Given the description of an element on the screen output the (x, y) to click on. 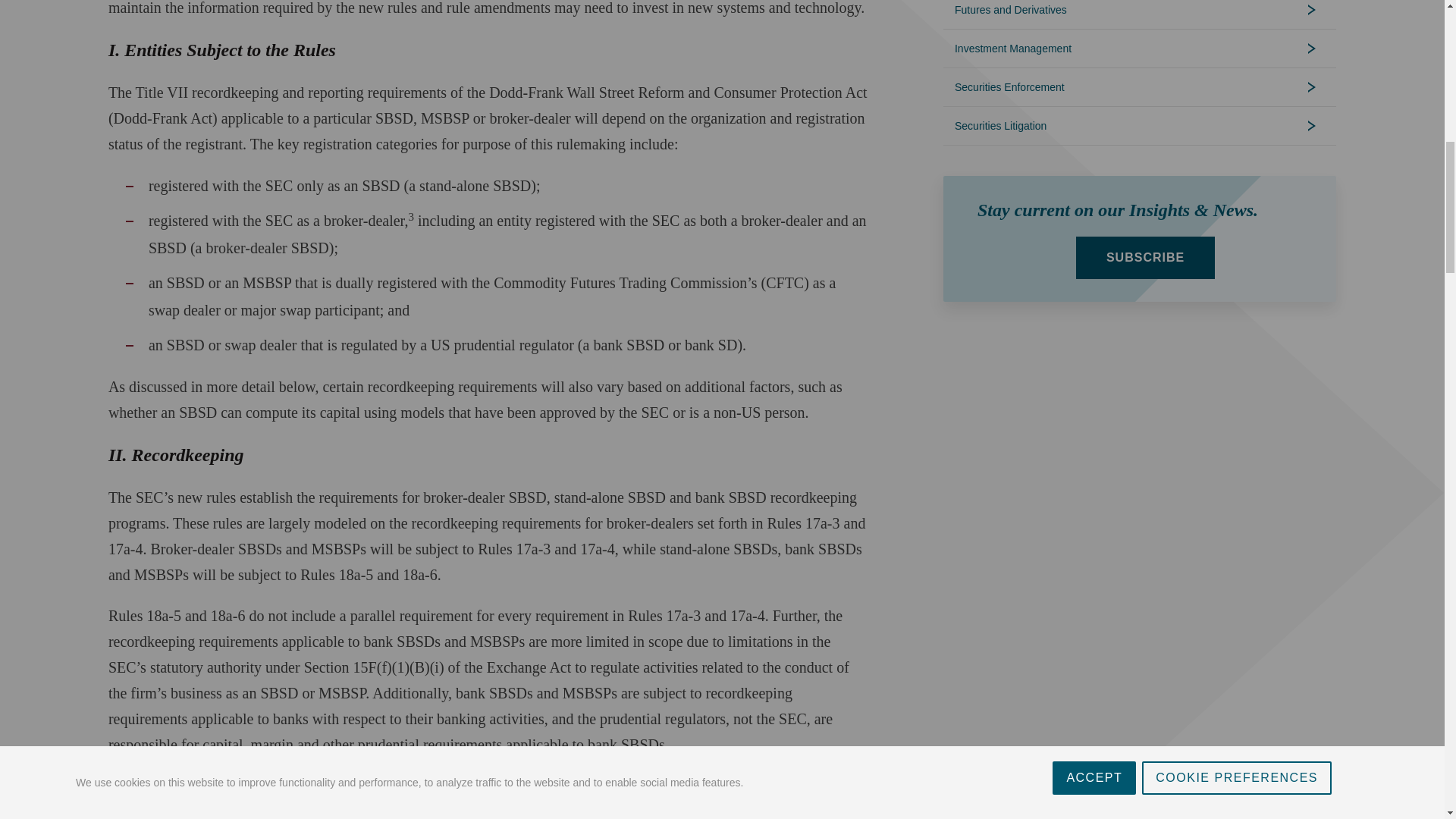
ACCEPT (1093, 9)
Investment Management (1139, 48)
Securities Enforcement (1139, 86)
SUBSCRIBE (1144, 257)
Securities Litigation (1139, 125)
Futures and Derivatives (1139, 14)
